Given the description of an element on the screen output the (x, y) to click on. 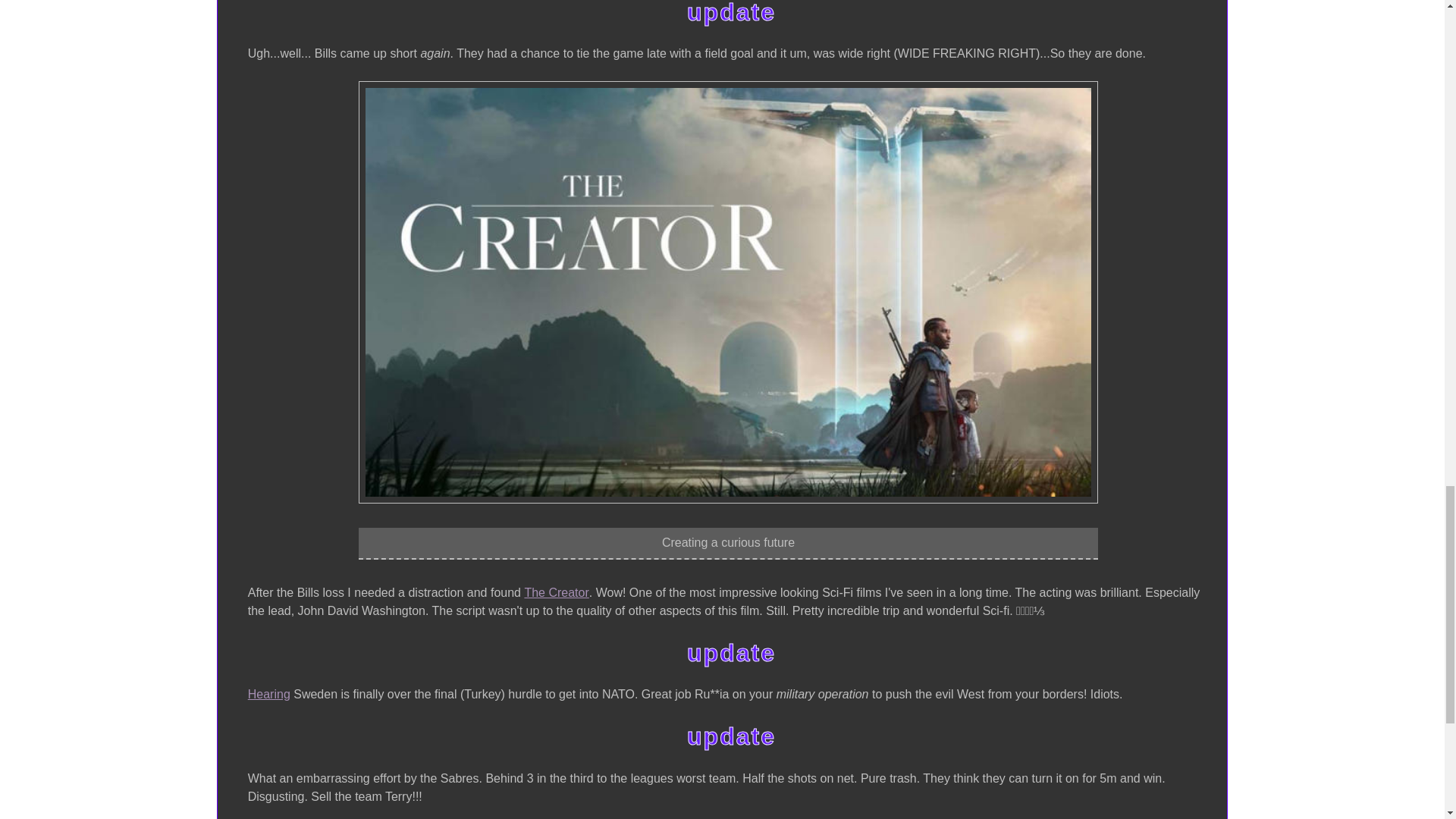
Hearing (268, 694)
The Creator (556, 592)
